Given the description of an element on the screen output the (x, y) to click on. 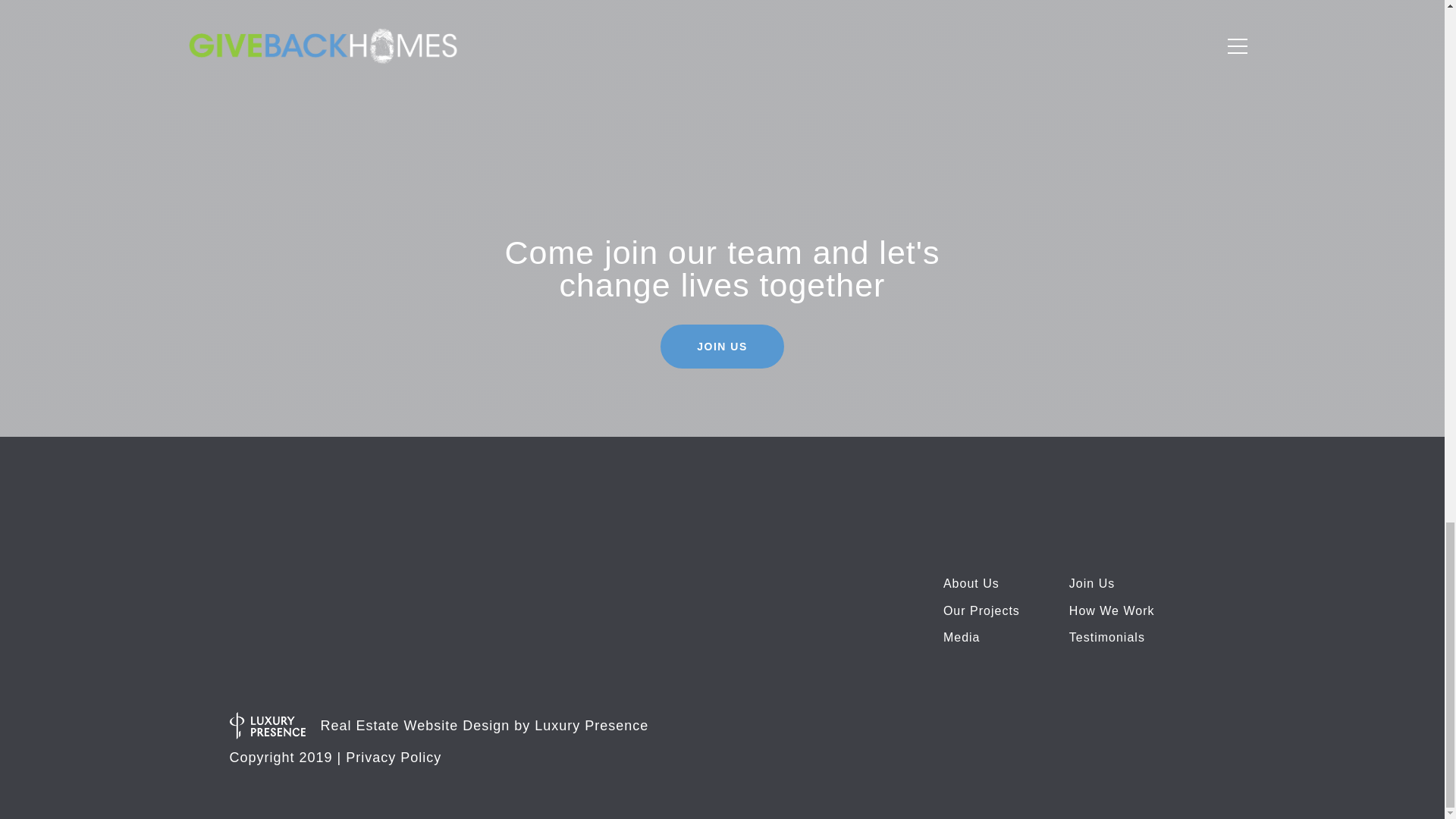
JOIN US (722, 346)
